Given the description of an element on the screen output the (x, y) to click on. 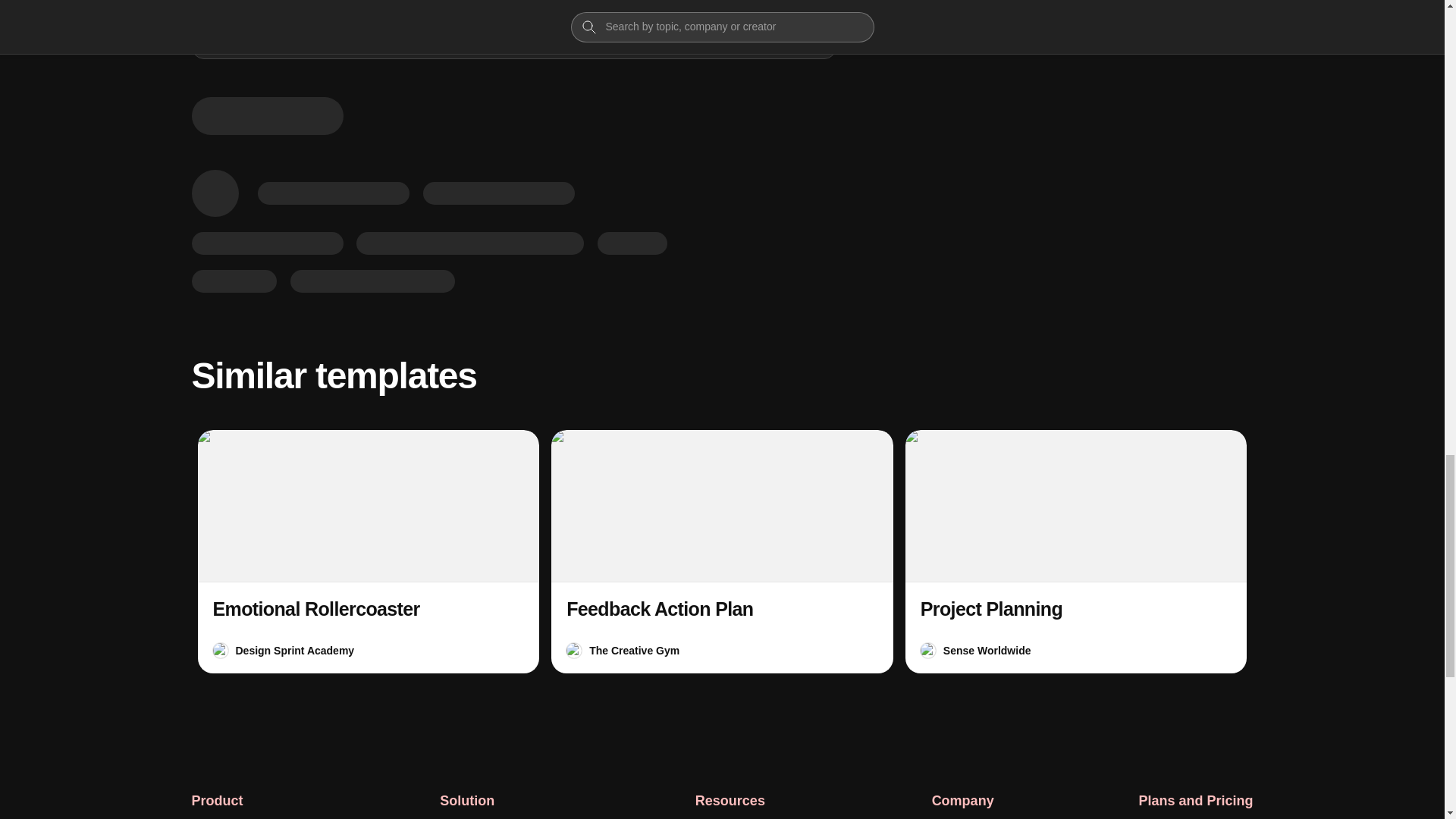
The Creative Gym (634, 650)
Feedback Action Plan (659, 608)
Emotional Rollercoaster (367, 551)
Sense Worldwide (986, 650)
Project Planning (1076, 551)
Project Planning (991, 608)
Emotional Rollercoaster (315, 608)
Design Sprint Academy (293, 650)
Feedback Action Plan (722, 551)
